Given the description of an element on the screen output the (x, y) to click on. 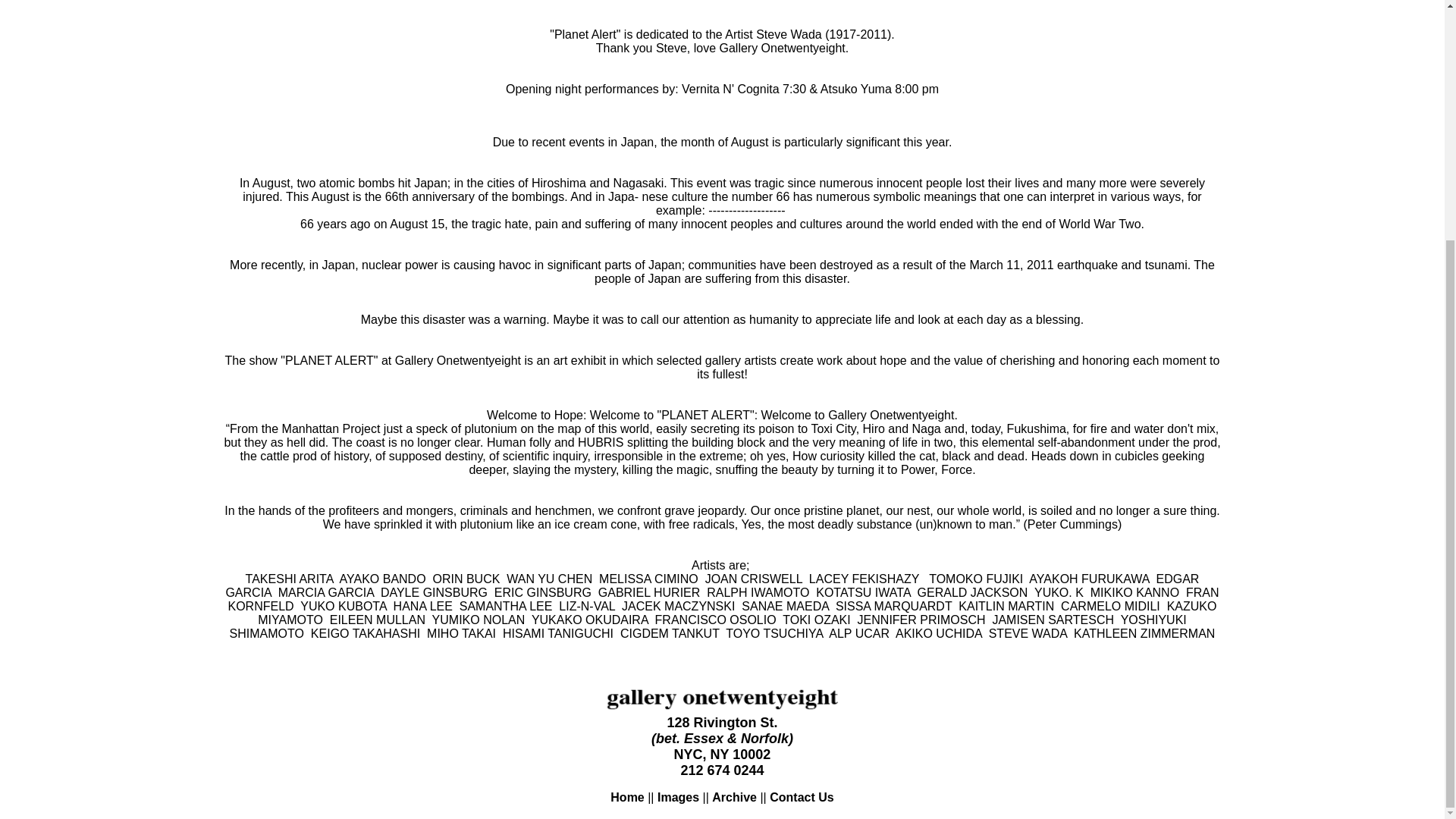
Contact Us (801, 797)
Home (626, 797)
Archive (734, 797)
Images (678, 797)
